Given the description of an element on the screen output the (x, y) to click on. 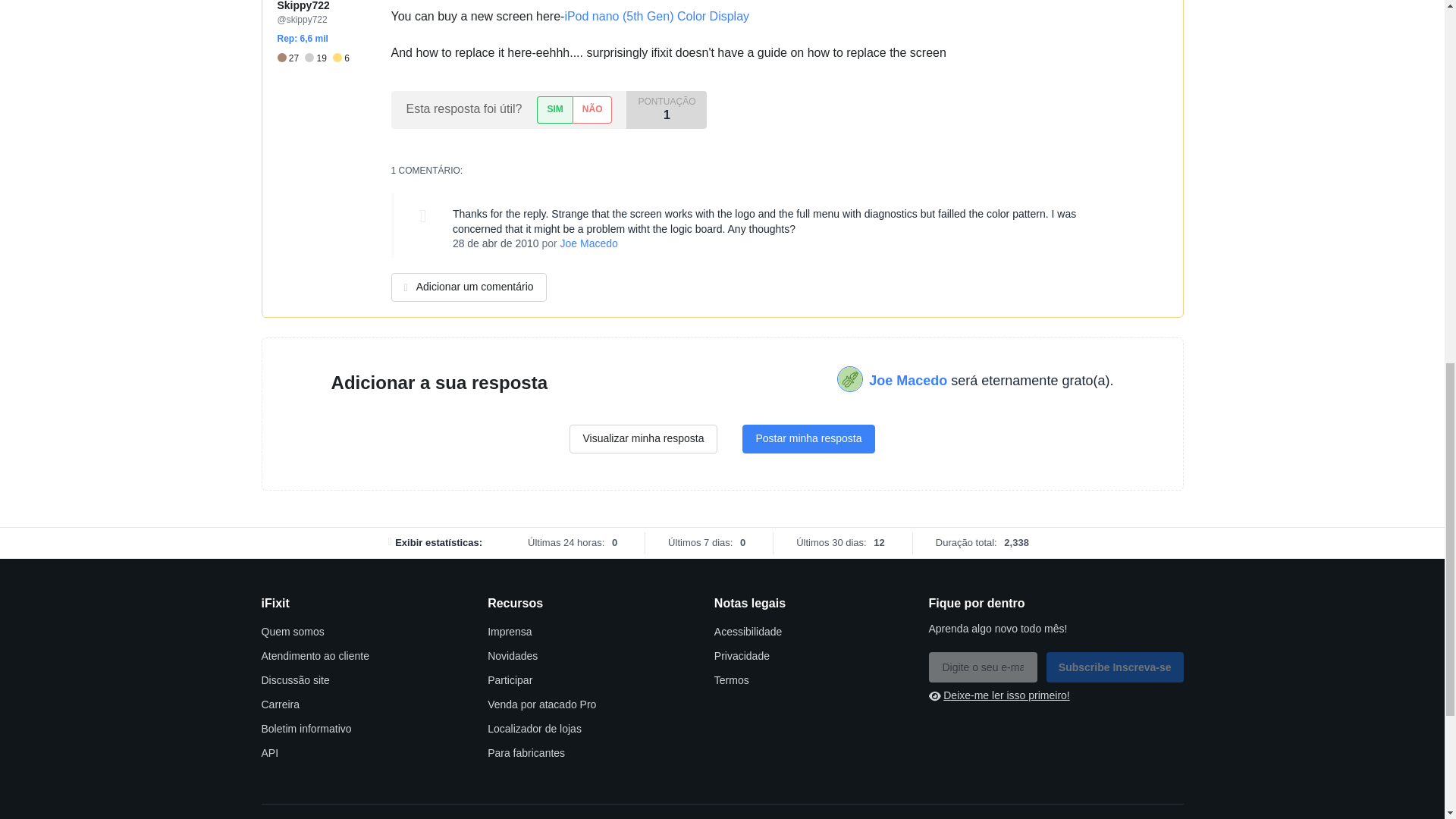
19 emblemas de Prata (318, 57)
6 emblemas de Ouro (341, 57)
Wed, 28 Apr 2010 19:41:58 -0700 (495, 243)
27 emblemas de Bronze (291, 57)
